Given the description of an element on the screen output the (x, y) to click on. 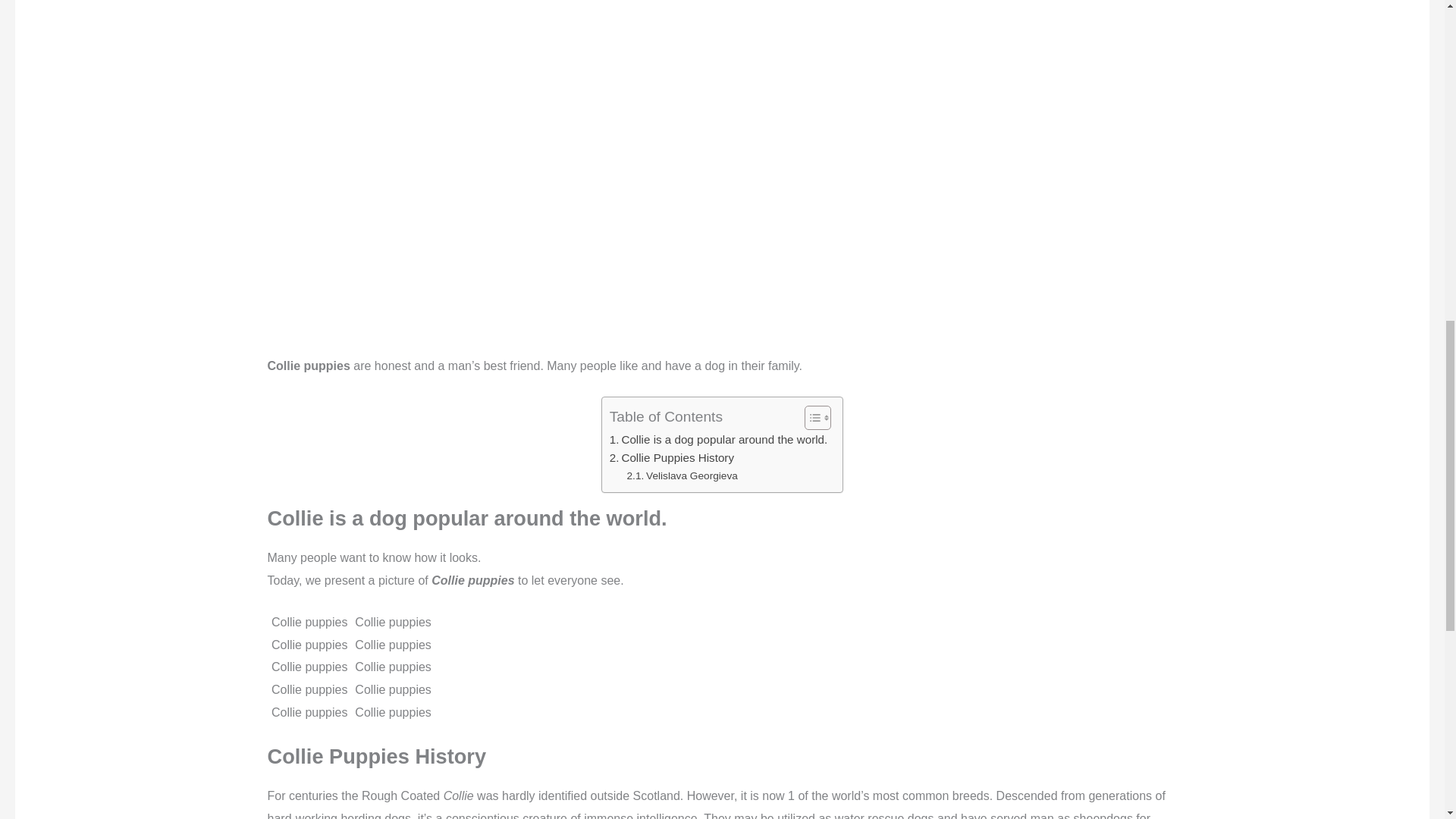
Velislava Georgieva (681, 475)
Collie is a dog popular around the world. (719, 439)
Collie Puppies History (671, 457)
Collie is a dog popular around the world. (719, 439)
Velislava Georgieva (681, 475)
Collie Puppies History (671, 457)
